Given the description of an element on the screen output the (x, y) to click on. 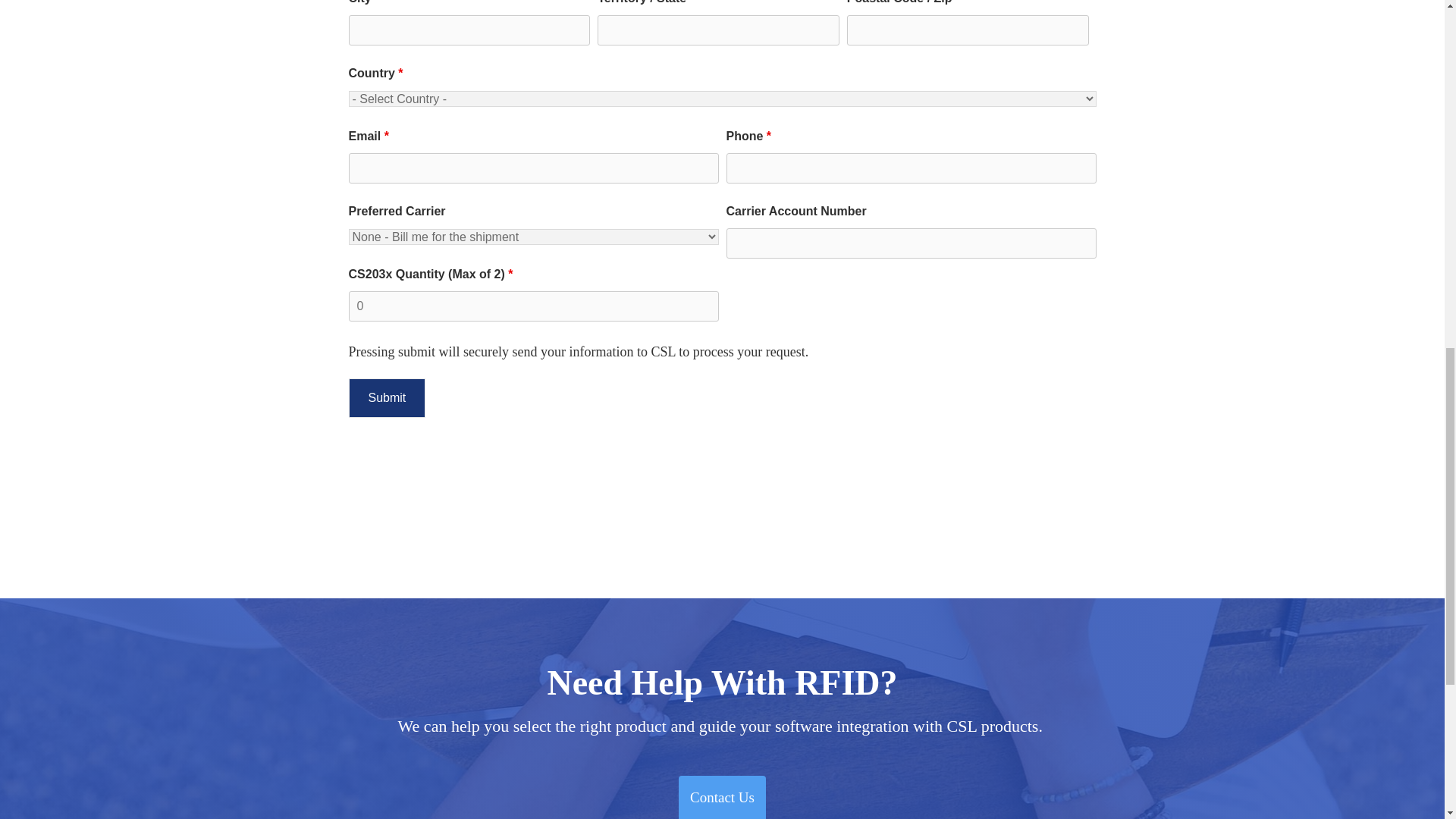
Contact Us (721, 797)
Submit (387, 397)
Submit (387, 397)
